Given the description of an element on the screen output the (x, y) to click on. 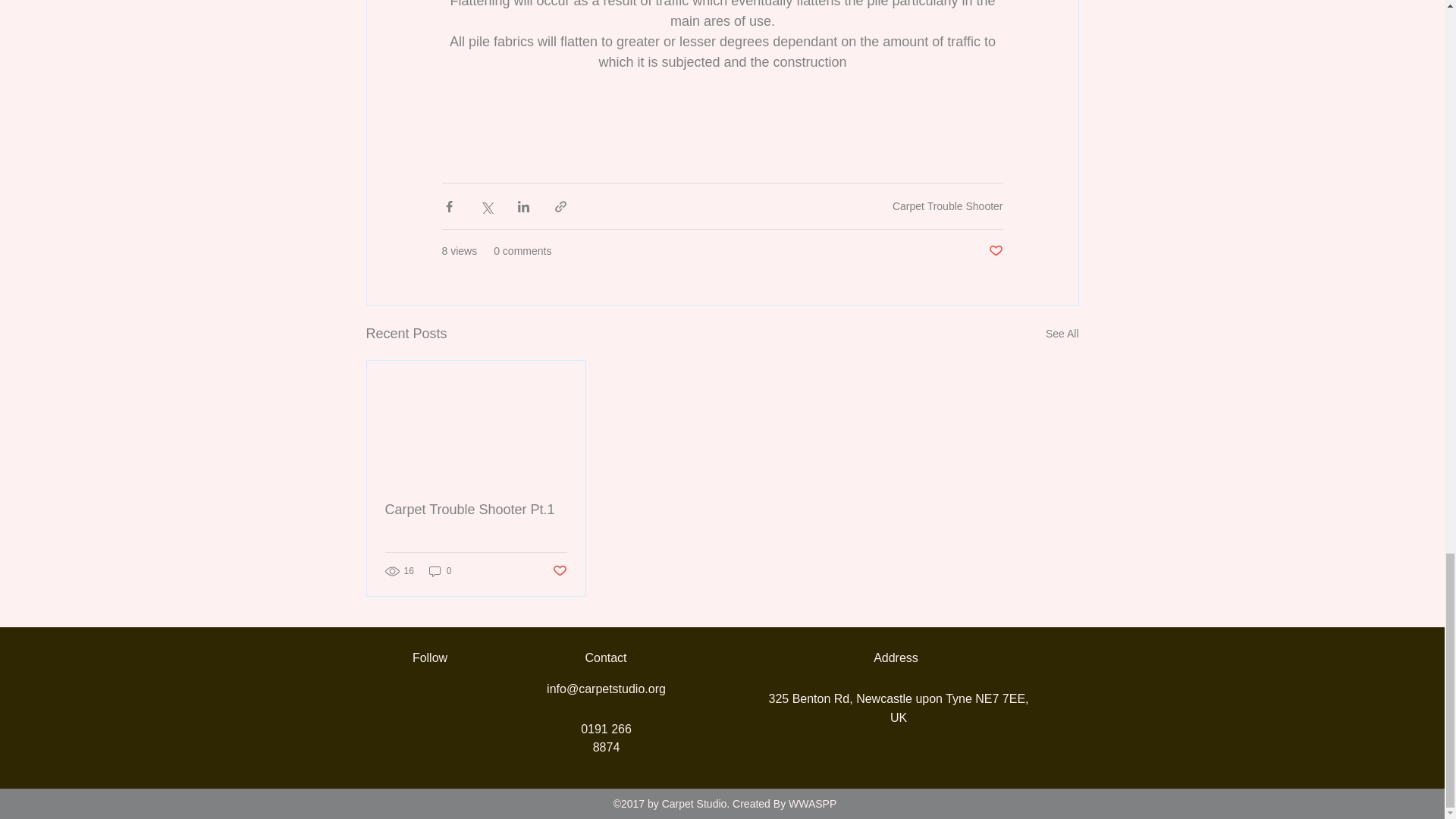
See All (1061, 333)
Post not marked as liked (558, 571)
Carpet Trouble Shooter (947, 205)
0 (440, 571)
Carpet Trouble Shooter Pt.1 (476, 509)
Post not marked as liked (995, 251)
